Given the description of an element on the screen output the (x, y) to click on. 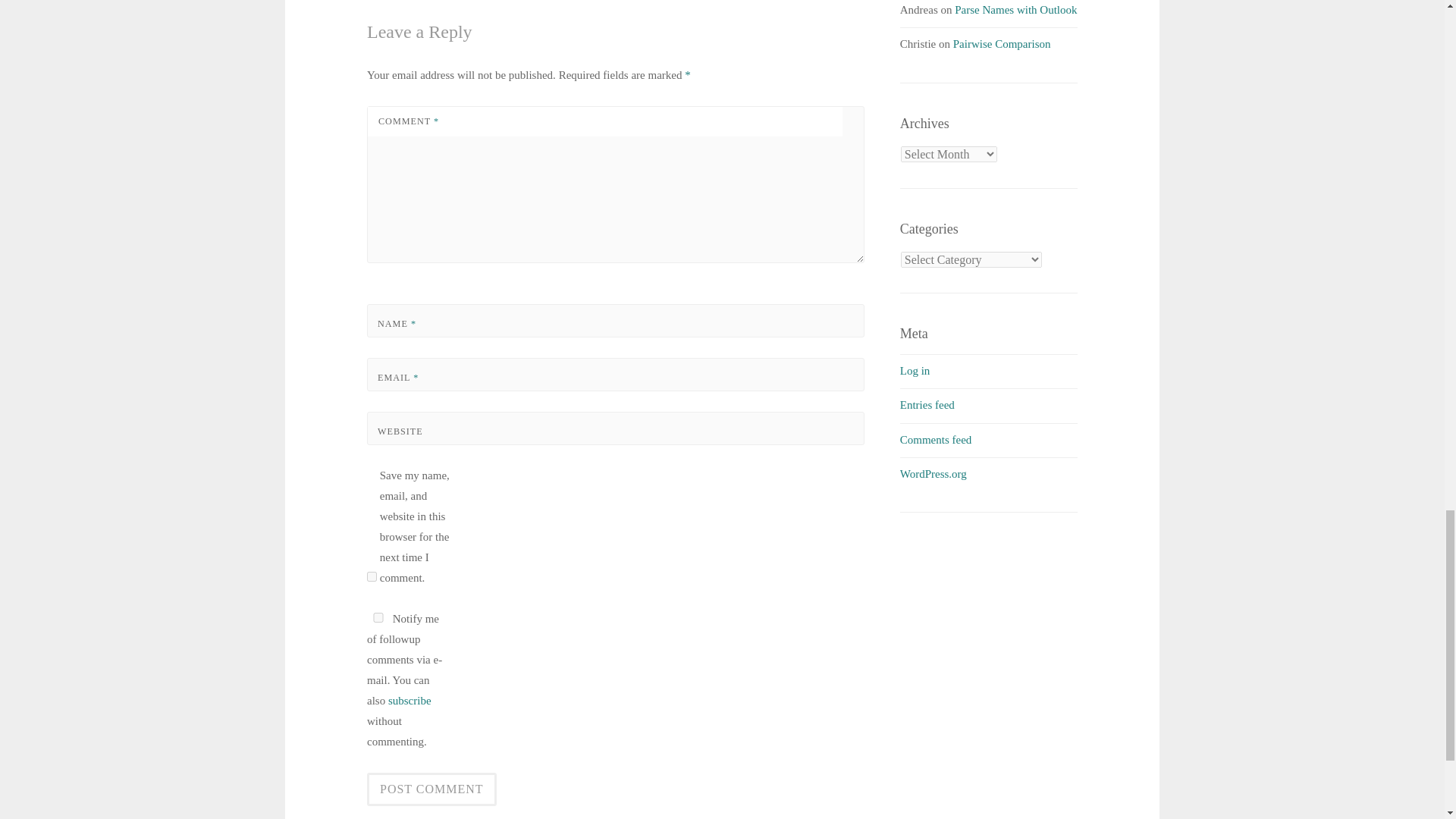
Post Comment (431, 789)
Post Comment (431, 789)
yes (371, 576)
yes (378, 617)
subscribe (409, 700)
